Given the description of an element on the screen output the (x, y) to click on. 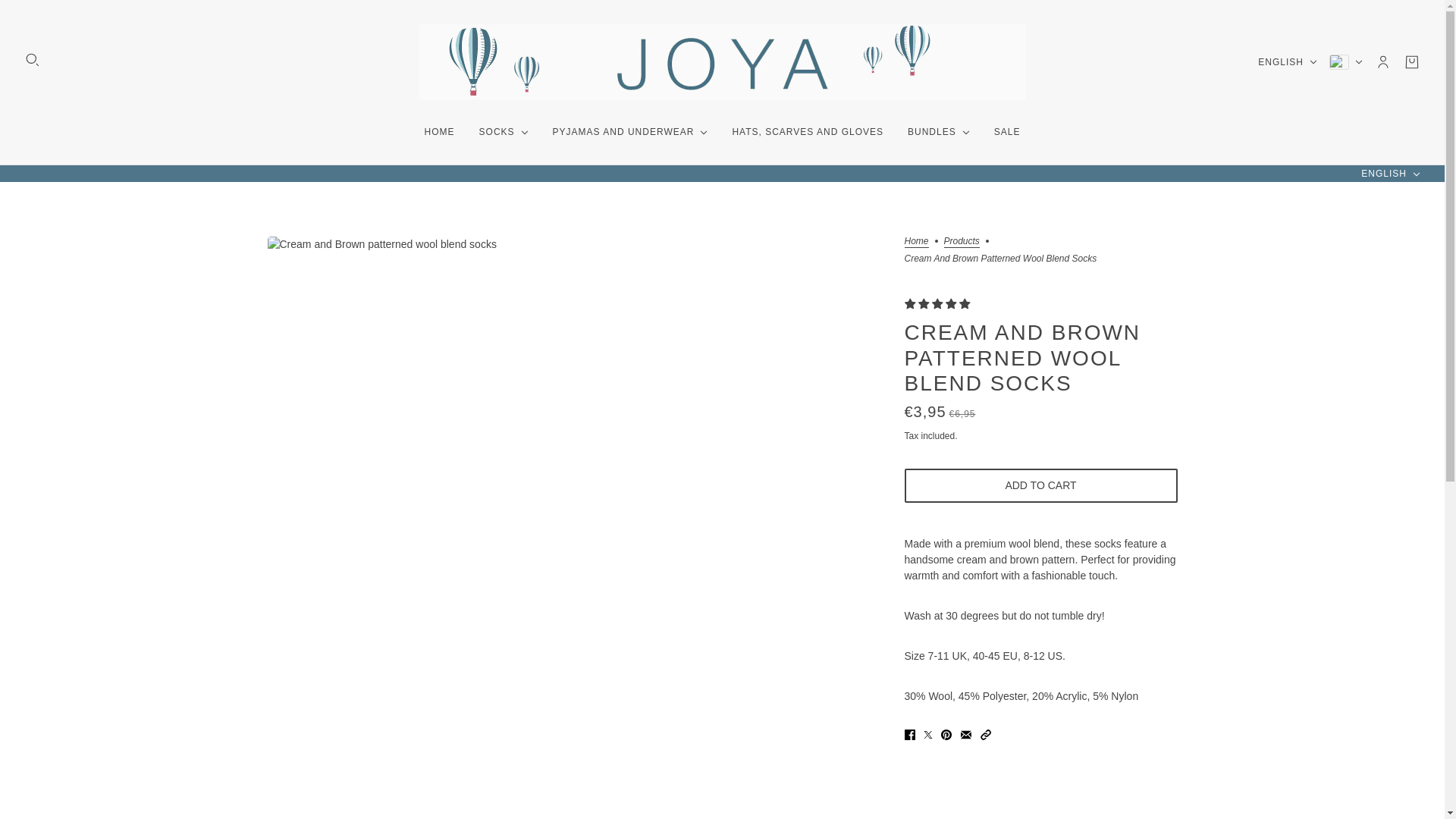
PYJAMAS AND UNDERWEAR (630, 131)
Joyasocks.com (722, 61)
ENGLISH (1287, 62)
BUNDLES (938, 131)
HATS, SCARVES AND GLOVES (807, 131)
ENGLISH (1391, 173)
SOCKS (503, 131)
